Given the description of an element on the screen output the (x, y) to click on. 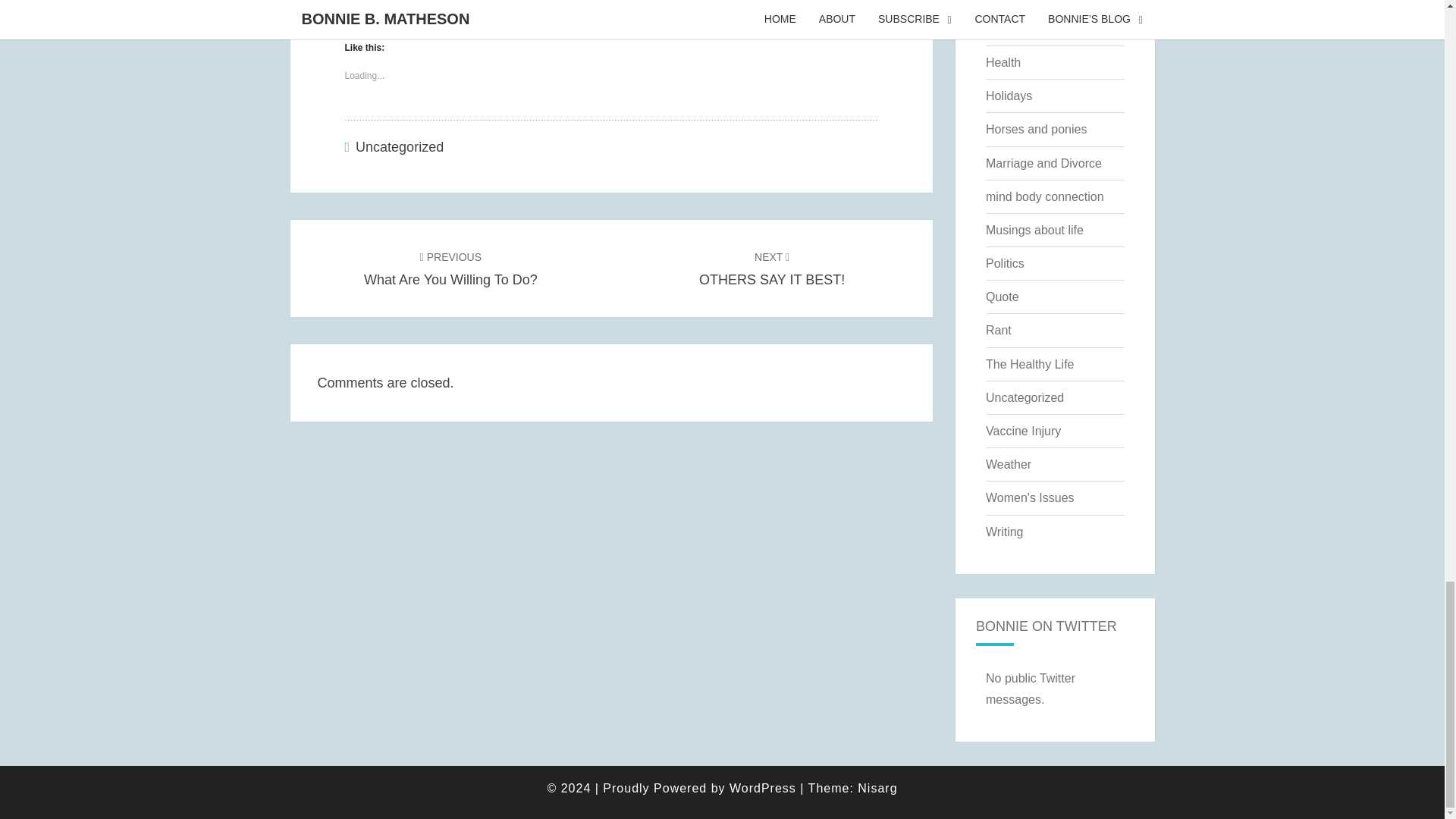
Tweet (368, 4)
Click to share on WhatsApp (515, 5)
Click to email a link to a friend (453, 5)
WhatsApp (771, 267)
Email (515, 5)
